Given the description of an element on the screen output the (x, y) to click on. 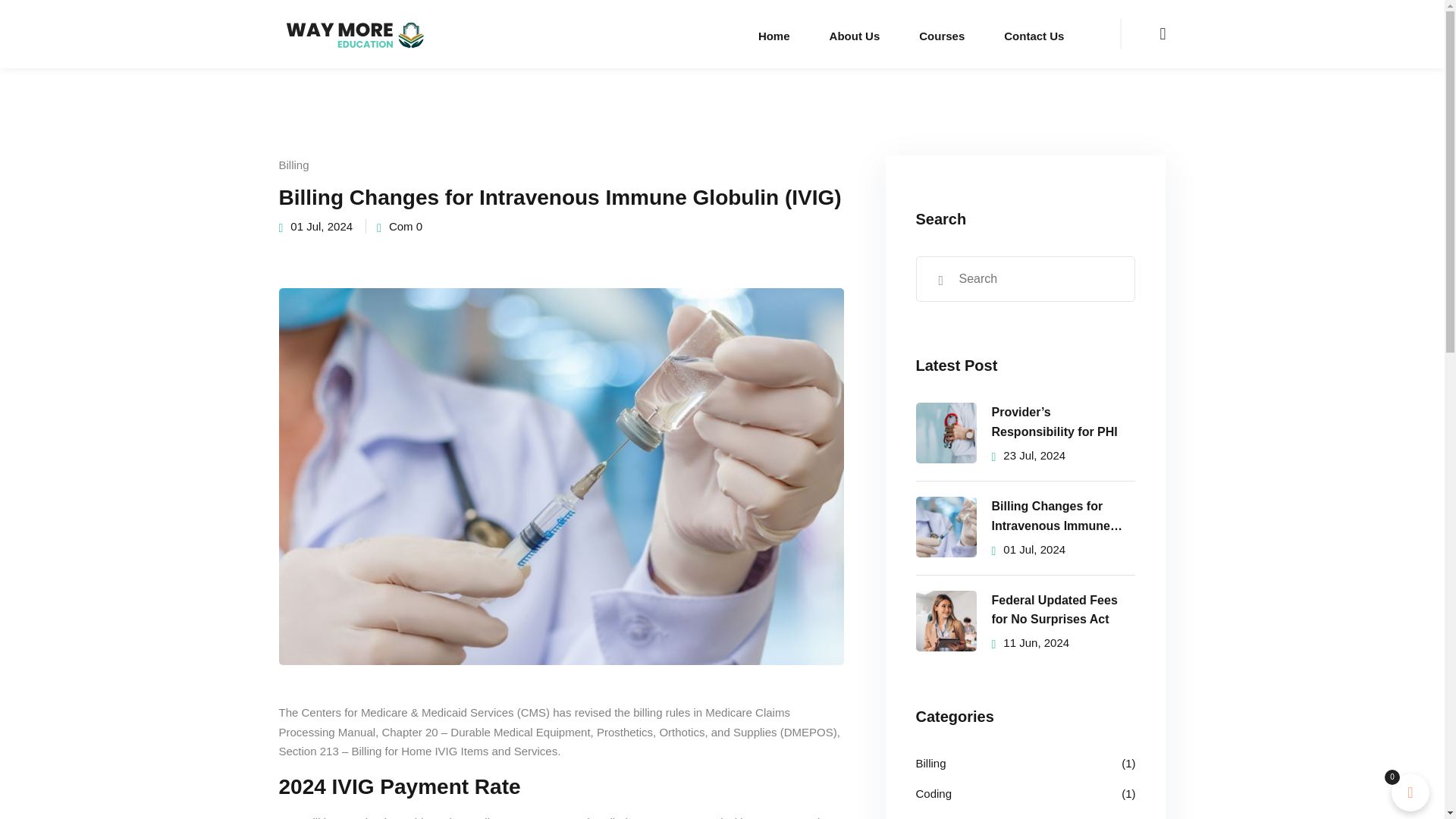
Contact Us (1033, 33)
Billing (293, 165)
Federal Updated Fees for No Surprises Act (1063, 609)
Compliance (945, 816)
About Us (854, 33)
Courses (941, 33)
Home (773, 33)
Billing (930, 763)
Coding (933, 793)
